Given the description of an element on the screen output the (x, y) to click on. 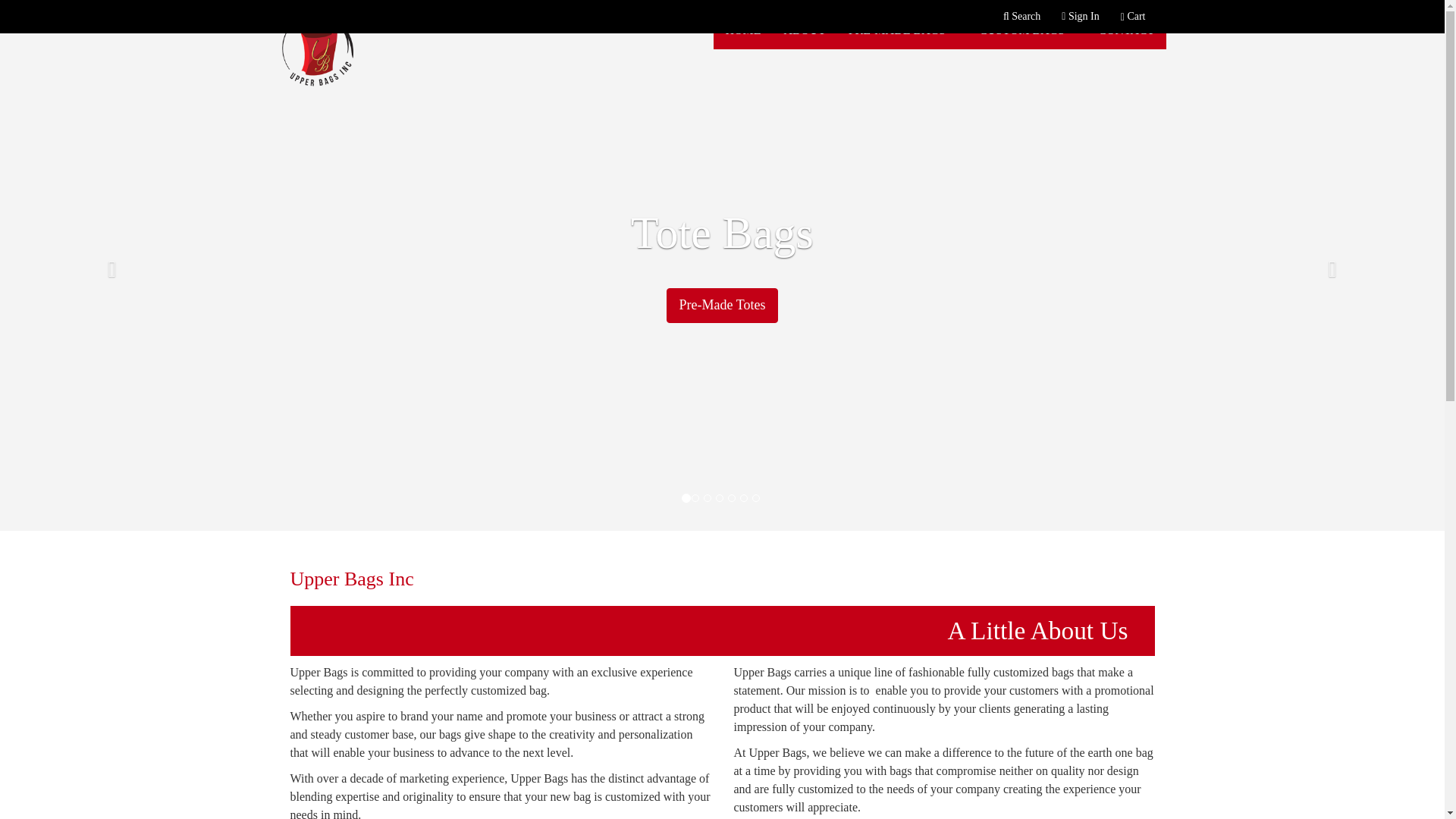
Cart (1133, 16)
HOME (742, 30)
ABOUT (805, 30)
Sign In (1080, 16)
PRE-MADE BAGS (902, 30)
Search (1021, 16)
CUSTOM BAGS (1027, 30)
